Given the description of an element on the screen output the (x, y) to click on. 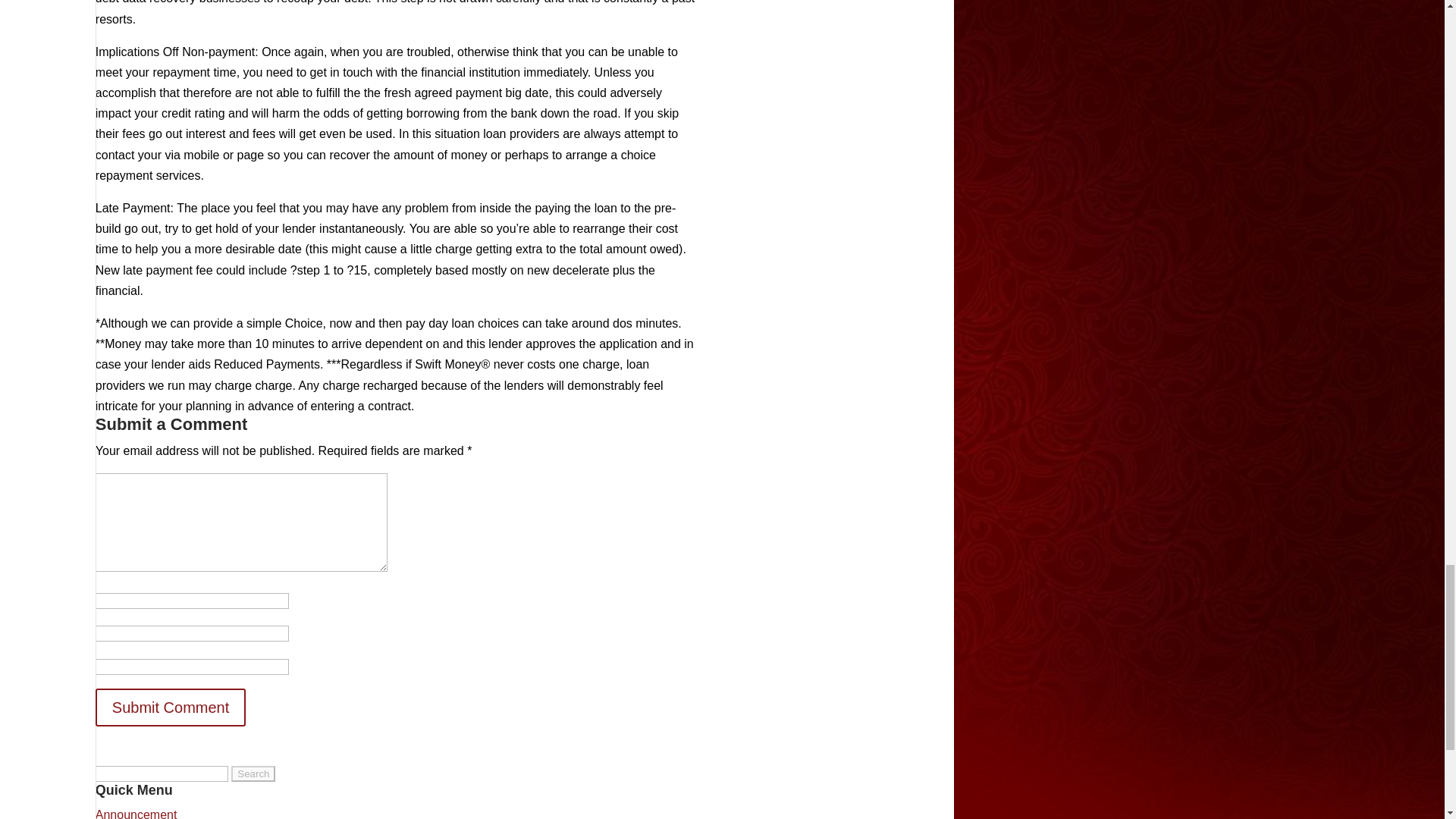
Search (253, 773)
Search (253, 773)
Submit Comment (171, 707)
Submit Comment (171, 707)
Announcement (136, 813)
